Given the description of an element on the screen output the (x, y) to click on. 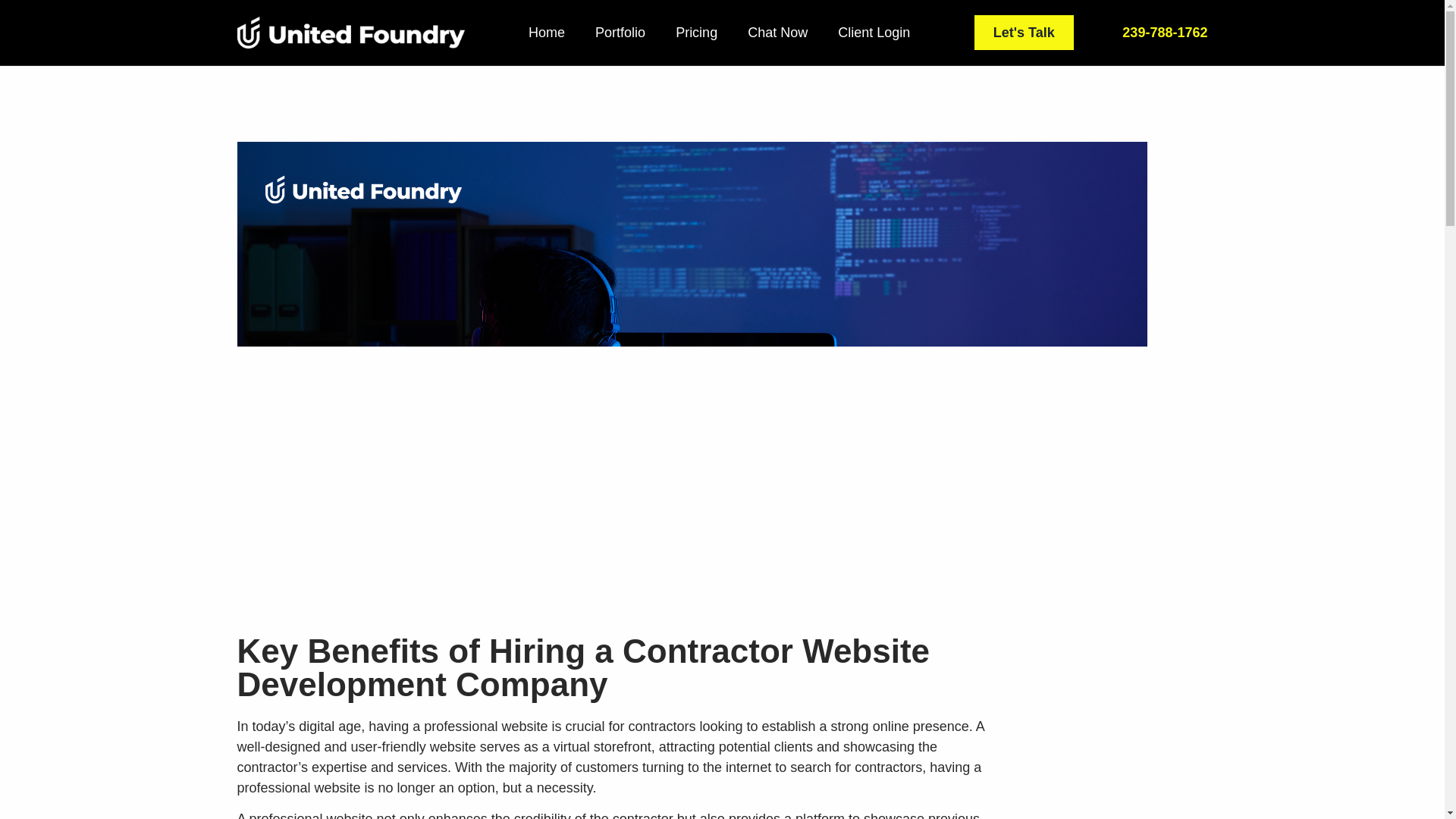
Home (546, 32)
239-788-1762 (1164, 32)
Chat Now (777, 32)
Client Login (873, 32)
Pricing (696, 32)
Let's Talk (1024, 32)
Portfolio (620, 32)
